Given the description of an element on the screen output the (x, y) to click on. 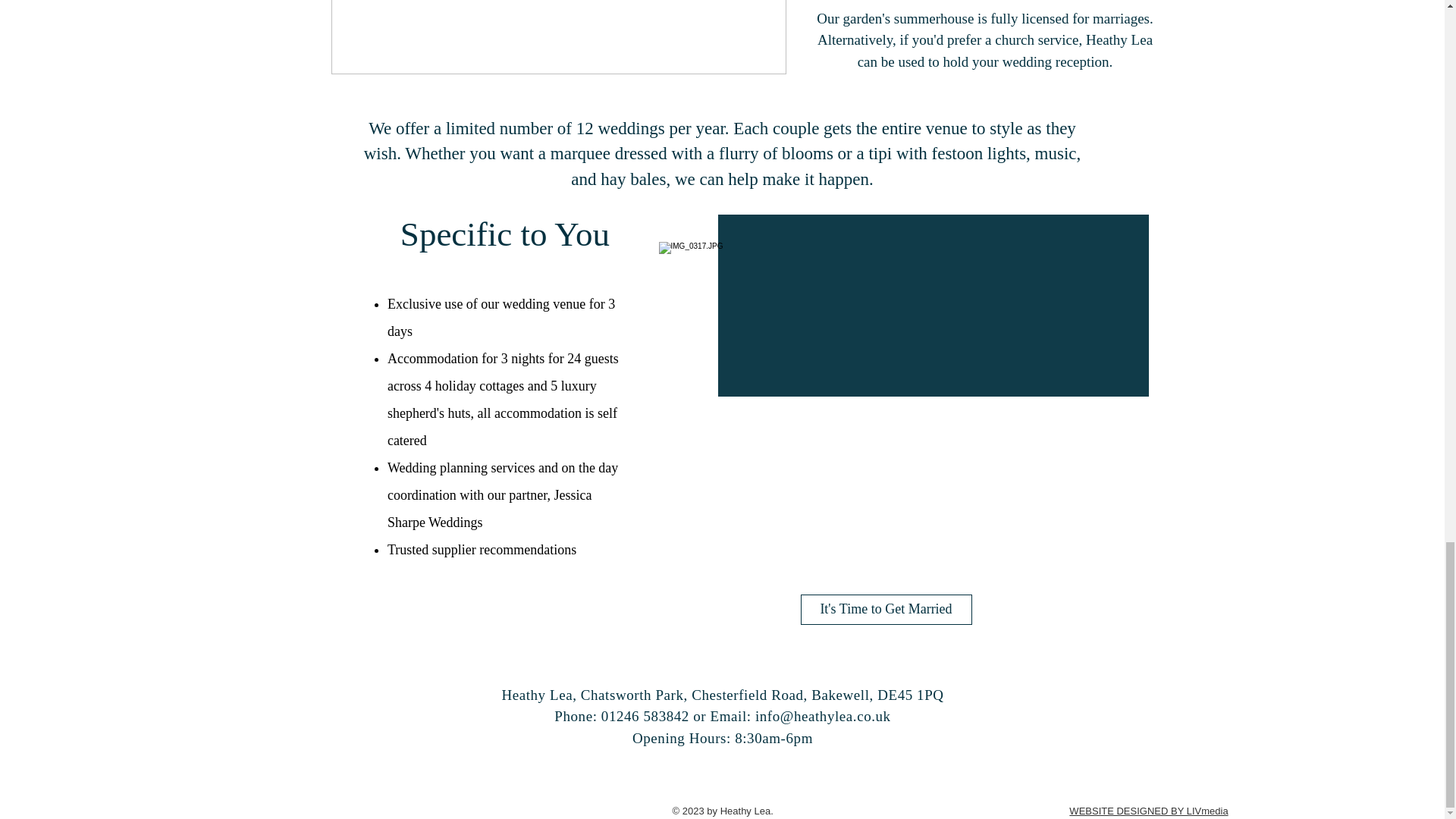
WEBSITE DESIGNED BY LIVmedia (1147, 810)
01246 583842 (644, 715)
Opening Hours:  (683, 738)
8:30am-6pm (773, 738)
It's Time to Get Married (886, 609)
